Given the description of an element on the screen output the (x, y) to click on. 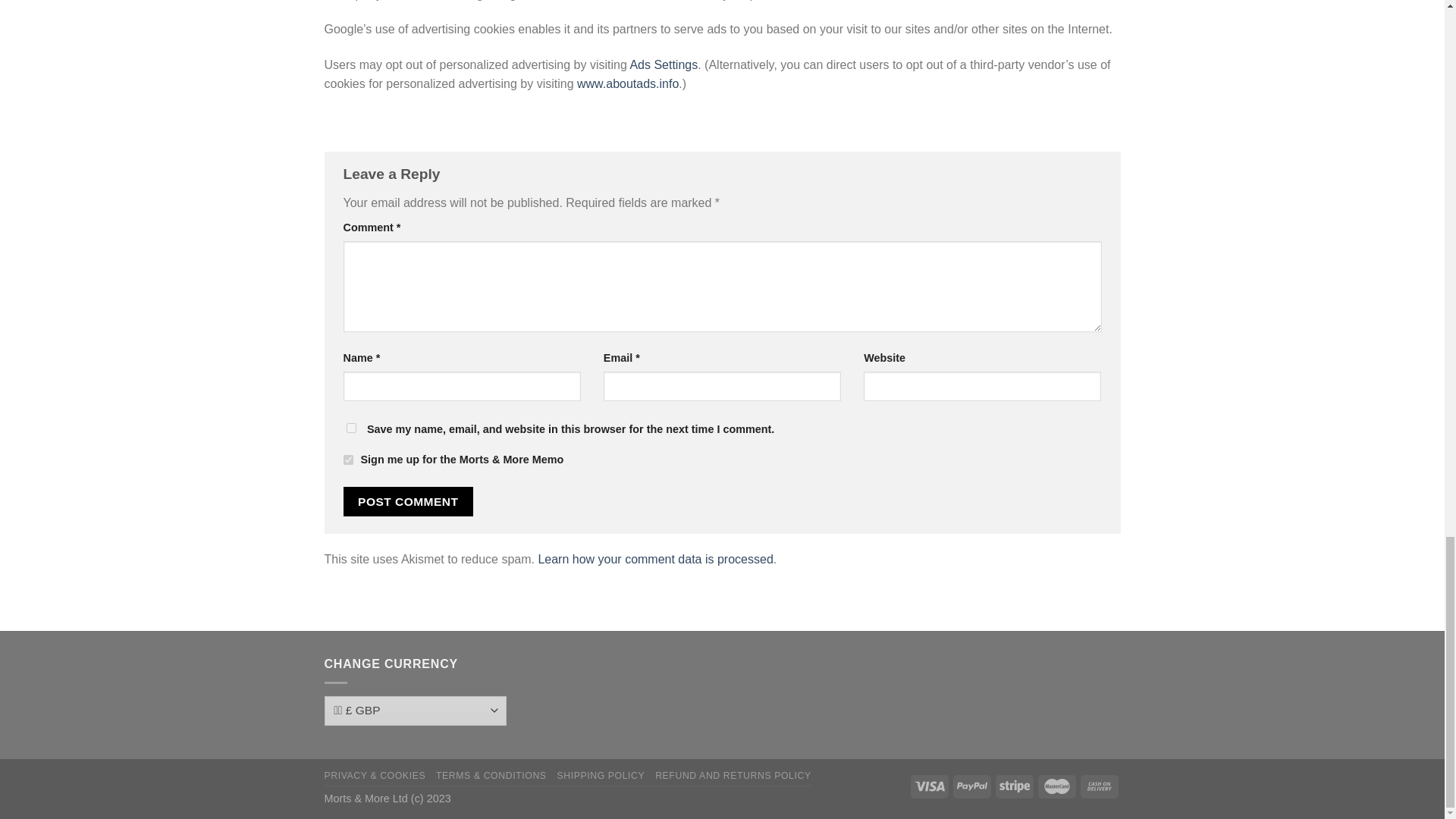
Post Comment (407, 501)
Ads Settings (662, 64)
Post Comment (407, 501)
yes (350, 428)
1 (347, 460)
www.aboutads.info (627, 83)
REFUND AND RETURNS POLICY (732, 775)
SHIPPING POLICY (600, 775)
Learn how your comment data is processed (655, 558)
